Given the description of an element on the screen output the (x, y) to click on. 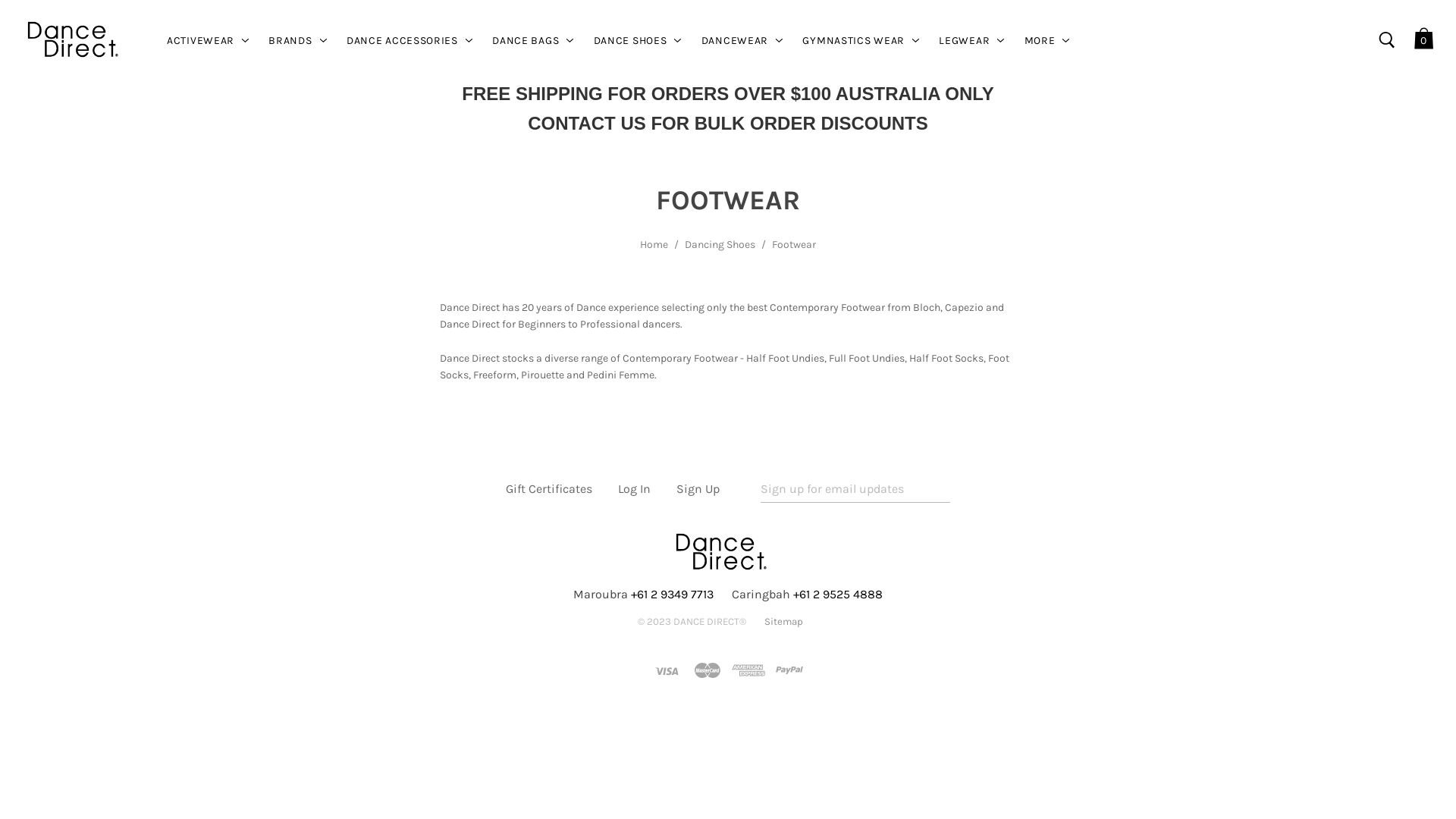
MORE Element type: text (1039, 39)
BRANDS Element type: text (289, 39)
Home Element type: text (653, 244)
Gift Certificates Element type: text (548, 488)
Caringbah Element type: text (760, 593)
DANCE ACCESSORIES Element type: text (402, 39)
Log In Element type: text (634, 488)
DANCE SHOES Element type: text (630, 39)
Sitemap Element type: text (783, 621)
Maroubra Element type: text (600, 593)
DANCE BAGS Element type: text (525, 39)
0 Element type: text (1423, 39)
Sign Up Element type: text (697, 488)
Dancing Shoes Element type: text (719, 244)
ACTIVEWEAR Element type: text (200, 39)
Footwear Element type: text (793, 244)
LEGWEAR Element type: text (963, 39)
DANCEWEAR Element type: text (734, 39)
GYMNASTICS WEAR Element type: text (853, 39)
